Given the description of an element on the screen output the (x, y) to click on. 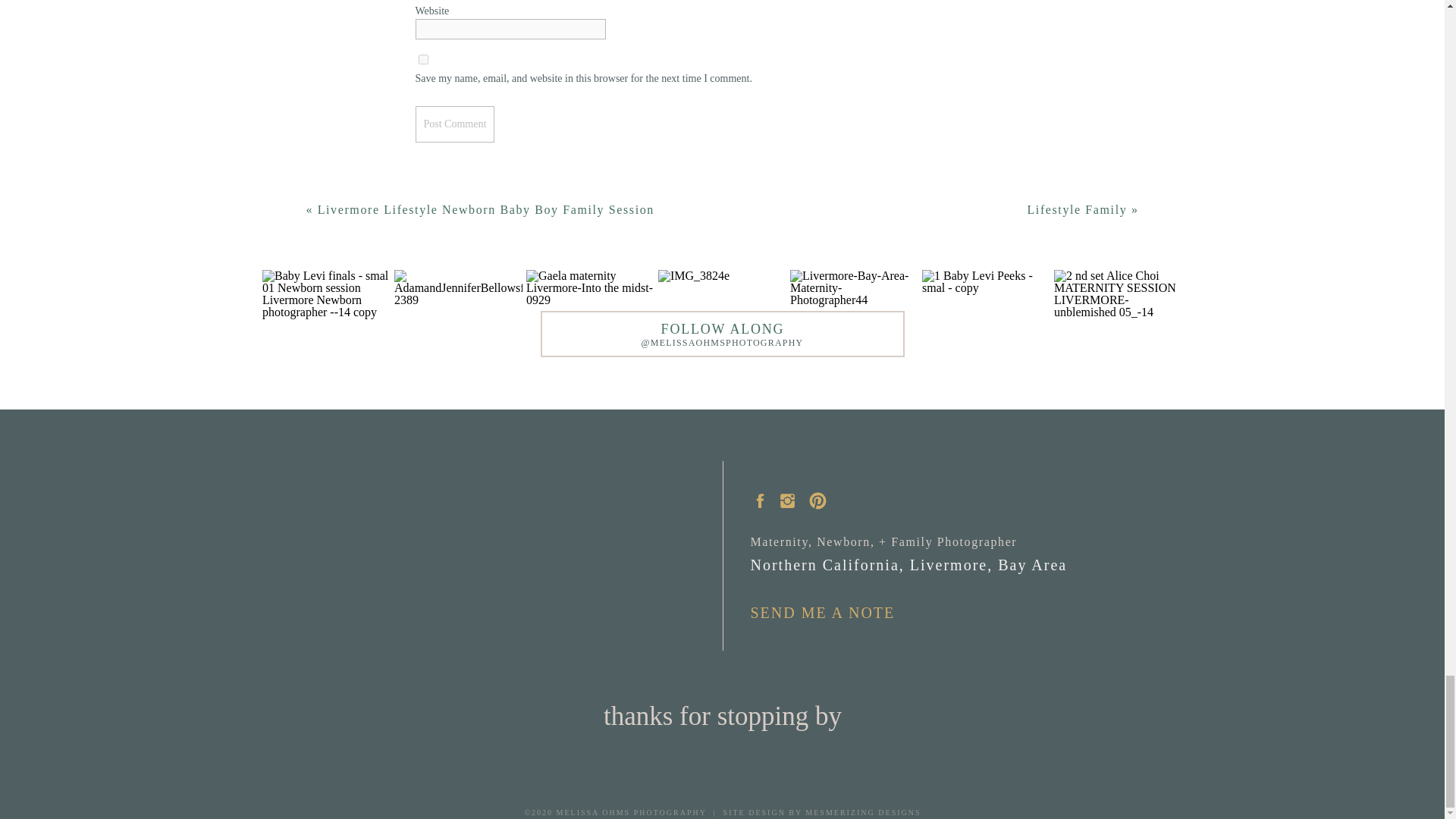
SEND ME A NOTE (830, 611)
FOLLOW ALONG (722, 327)
yes (423, 59)
Lifestyle Family (1076, 209)
Post Comment (454, 123)
Post Comment (454, 123)
SITE DESIGN BY MESMERIZING DESIGNS (819, 812)
Livermore Lifestyle Newborn Baby Boy Family Session (485, 209)
